Given the description of an element on the screen output the (x, y) to click on. 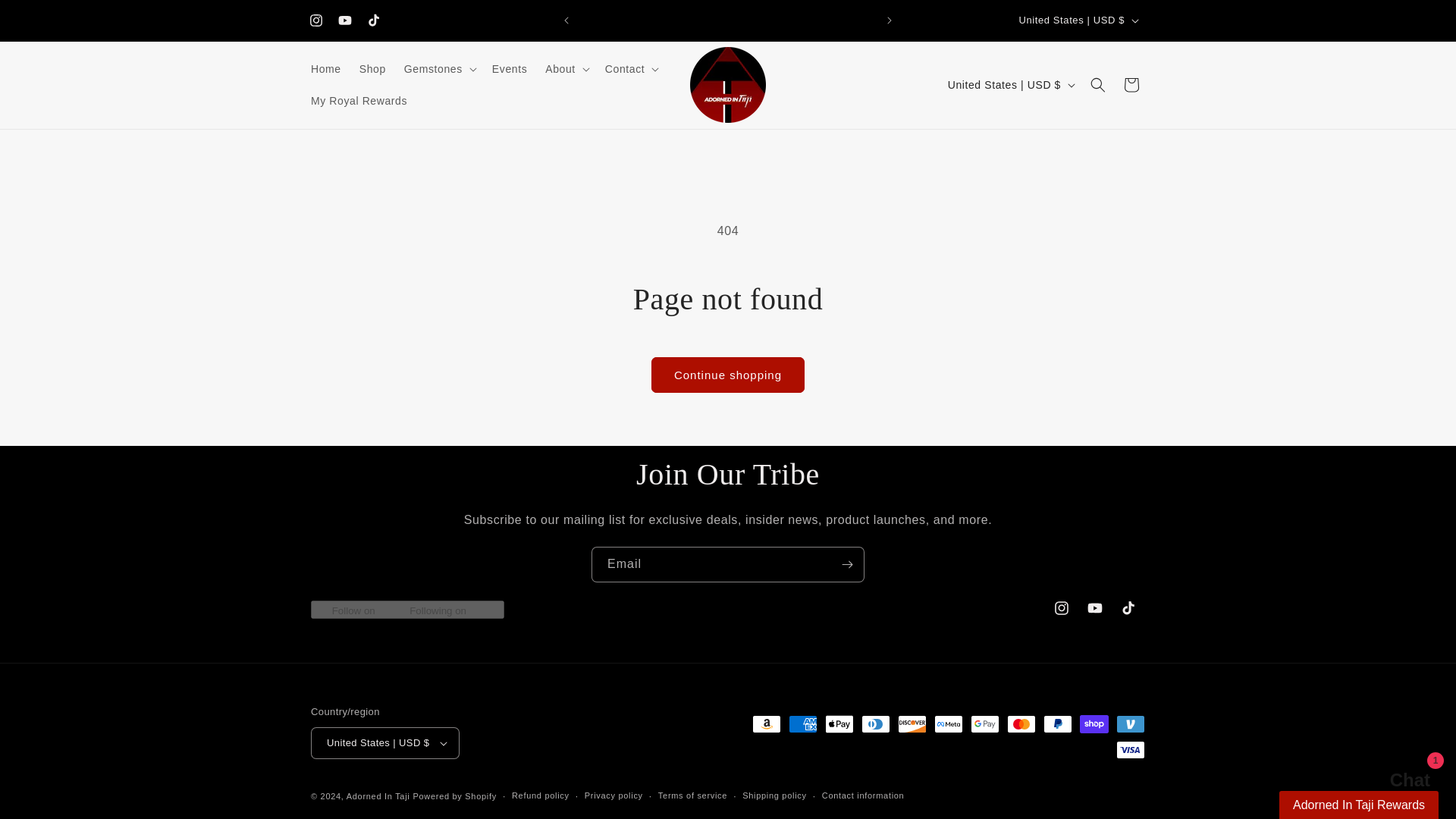
Skip to content (45, 17)
TikTok (373, 20)
Instagram (315, 20)
Shop (372, 69)
Shopify online store chat (1395, 781)
YouTube (344, 20)
Home (325, 69)
